Given the description of an element on the screen output the (x, y) to click on. 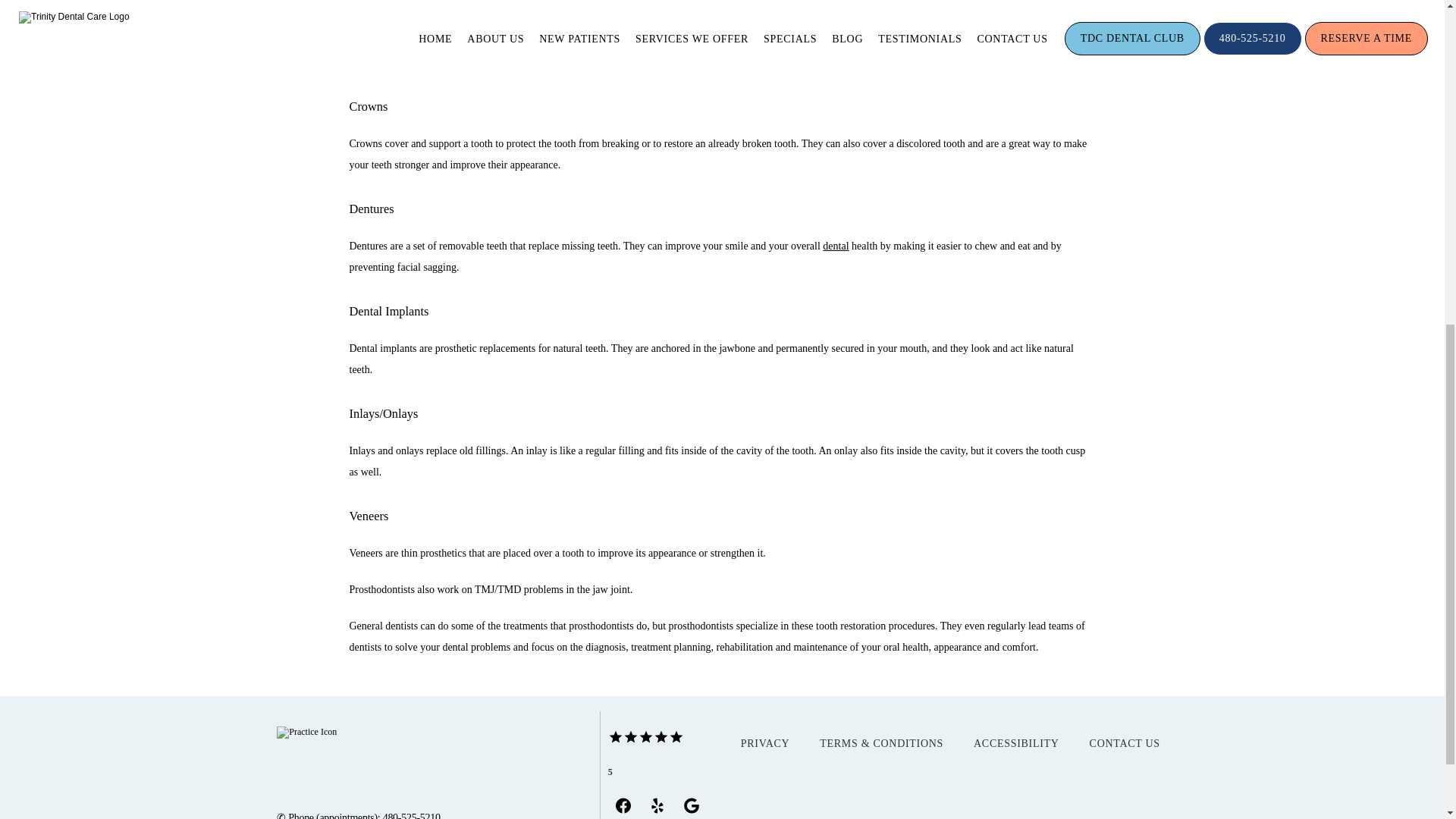
dental (835, 245)
CONTACT US (1124, 743)
ACCESSIBILITY (1016, 743)
PRIVACY (765, 743)
